Given the description of an element on the screen output the (x, y) to click on. 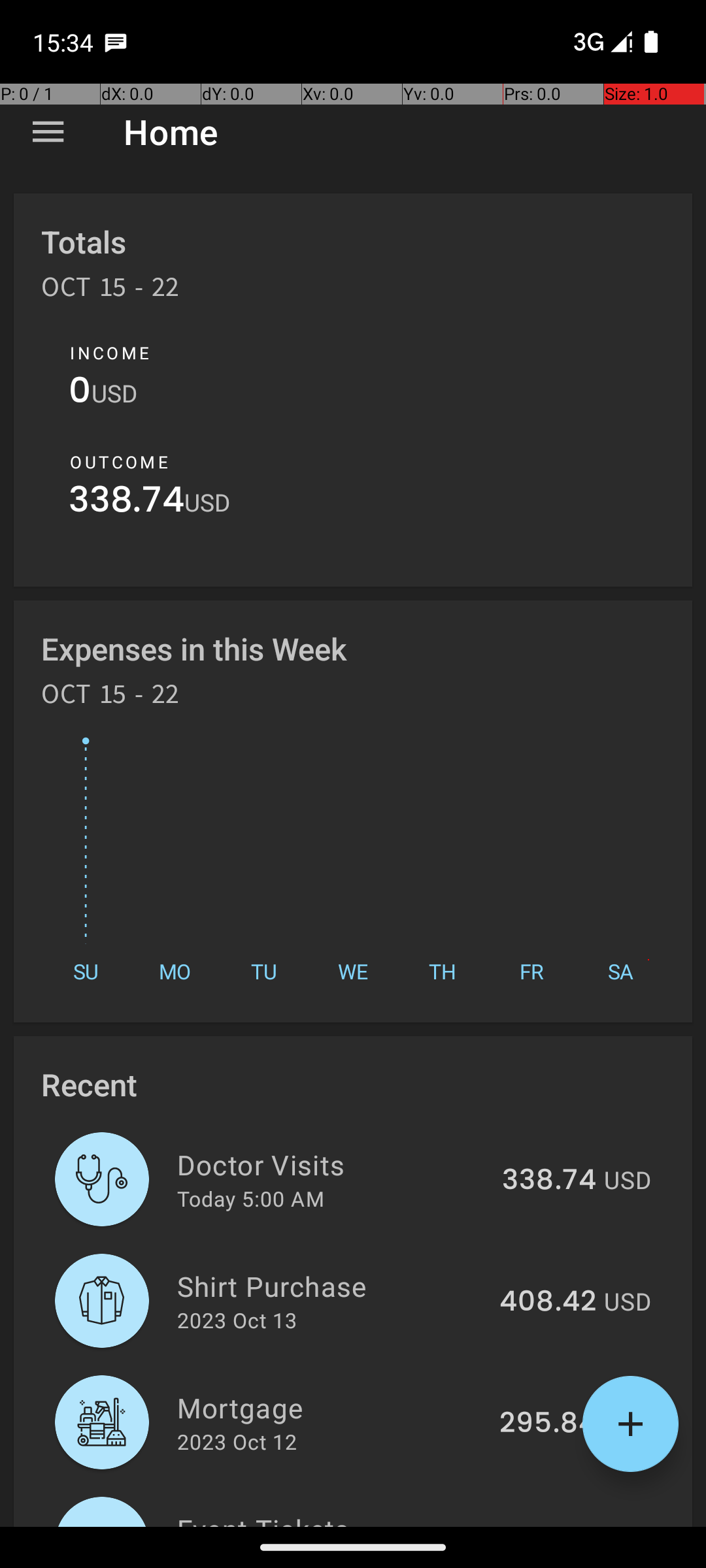
Totals Element type: android.widget.TextView (83, 240)
OCT 15 - 22 Element type: android.widget.TextView (110, 291)
INCOME Element type: android.widget.TextView (109, 352)
OUTCOME Element type: android.widget.TextView (118, 461)
338.74 Element type: android.widget.TextView (126, 502)
Expenses in this Week Element type: android.widget.TextView (194, 648)
Doctor Visits Element type: android.widget.TextView (331, 1164)
Today 5:00 AM Element type: android.widget.TextView (250, 1198)
Shirt Purchase Element type: android.widget.TextView (330, 1285)
2023 Oct 13 Element type: android.widget.TextView (236, 1320)
408.42 Element type: android.widget.TextView (547, 1301)
Mortgage Element type: android.widget.TextView (330, 1407)
2023 Oct 12 Element type: android.widget.TextView (236, 1441)
295.84 Element type: android.widget.TextView (547, 1423)
Event Tickets Element type: android.widget.TextView (347, 1518)
50.6 Element type: android.widget.TextView (564, 1524)
15:35 Element type: android.widget.TextView (64, 41)
